Given the description of an element on the screen output the (x, y) to click on. 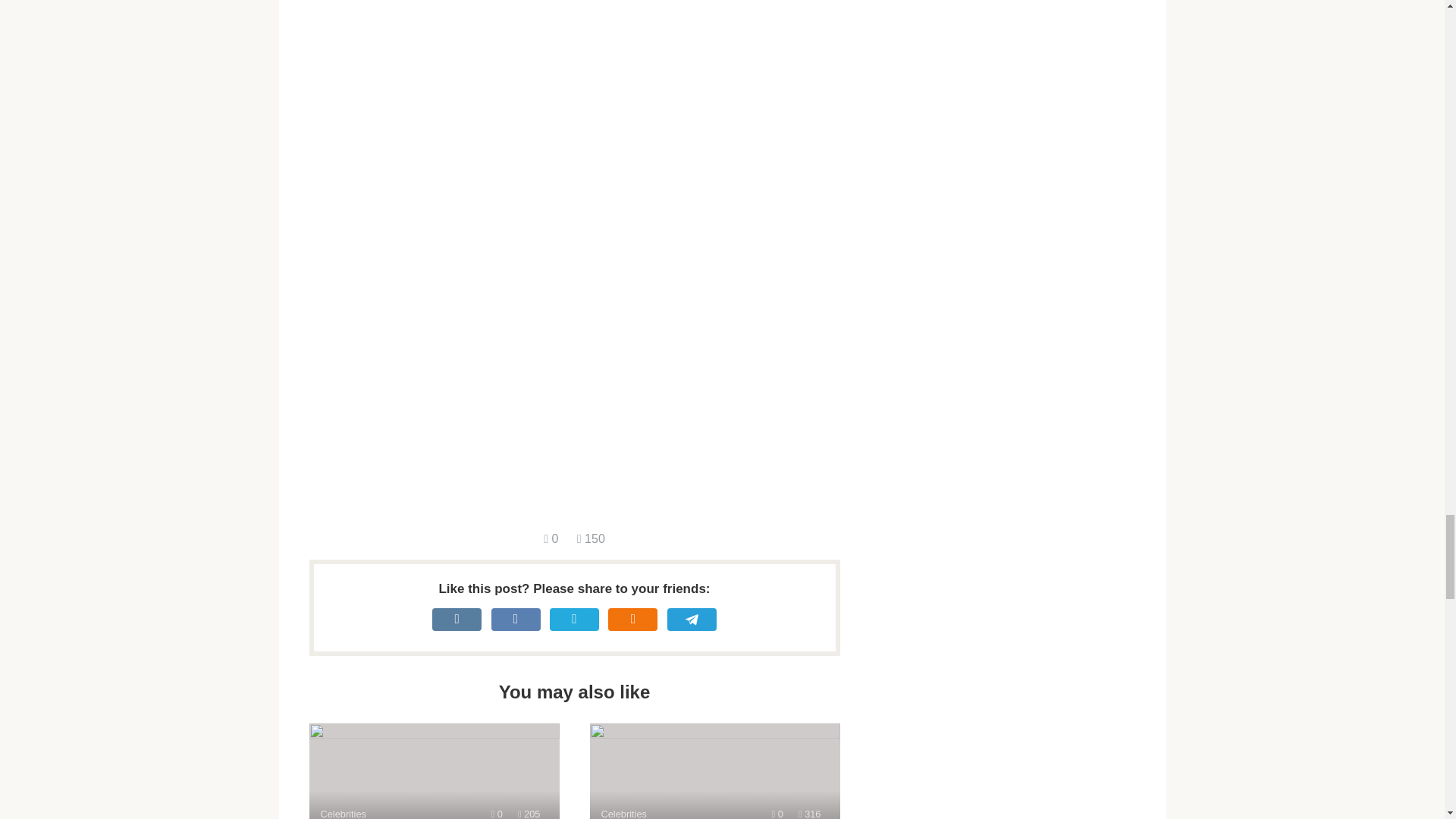
Views (809, 813)
Comments (550, 538)
Views (590, 538)
Comments (777, 813)
Views (433, 771)
Comments (529, 813)
